Given the description of an element on the screen output the (x, y) to click on. 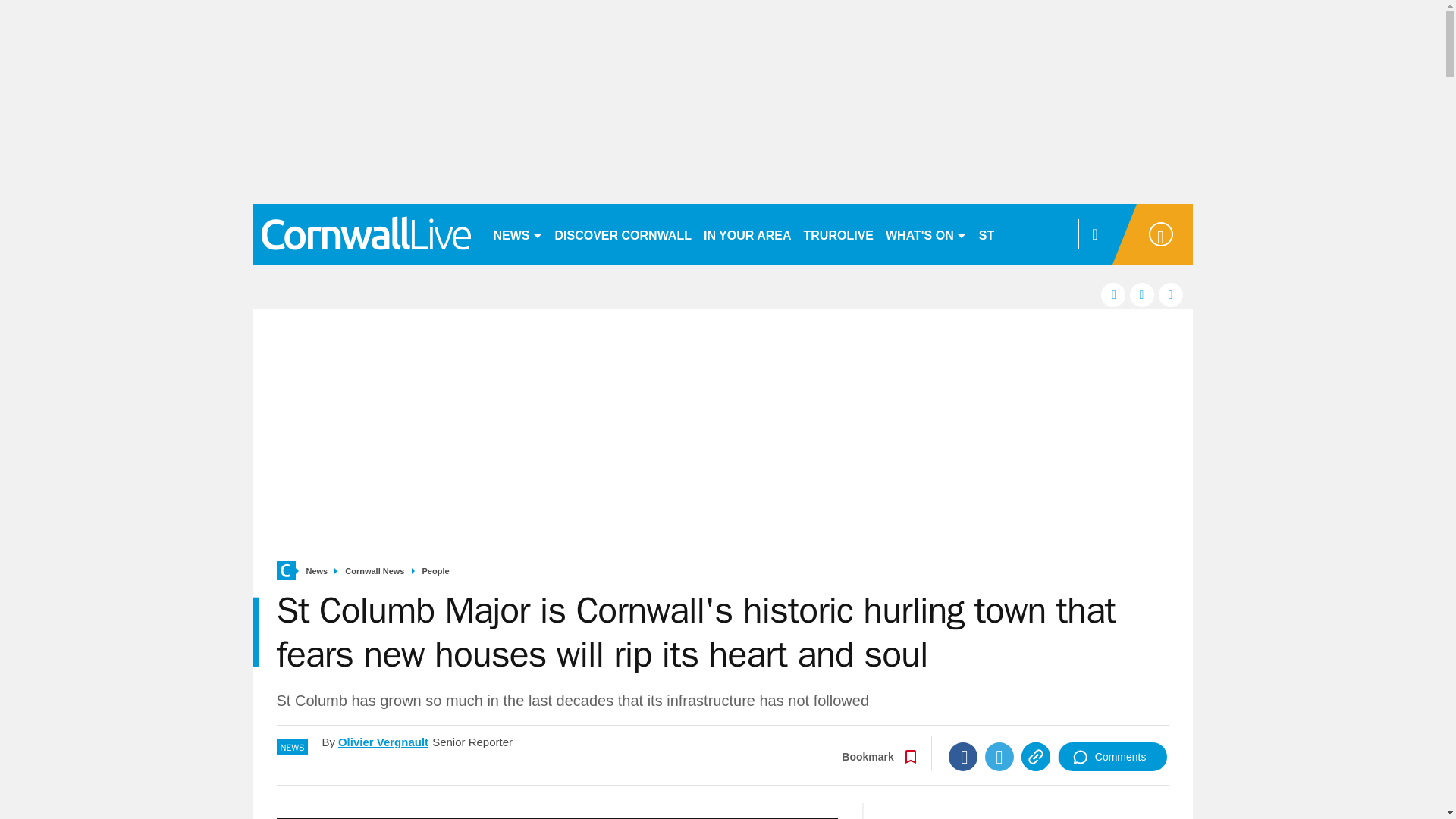
ST AUSTELL (1015, 233)
facebook (1112, 294)
Facebook (962, 756)
DISCOVER CORNWALL (622, 233)
Comments (1112, 756)
TRUROLIVE (838, 233)
NEWS (517, 233)
twitter (1141, 294)
instagram (1170, 294)
IN YOUR AREA (747, 233)
